Given the description of an element on the screen output the (x, y) to click on. 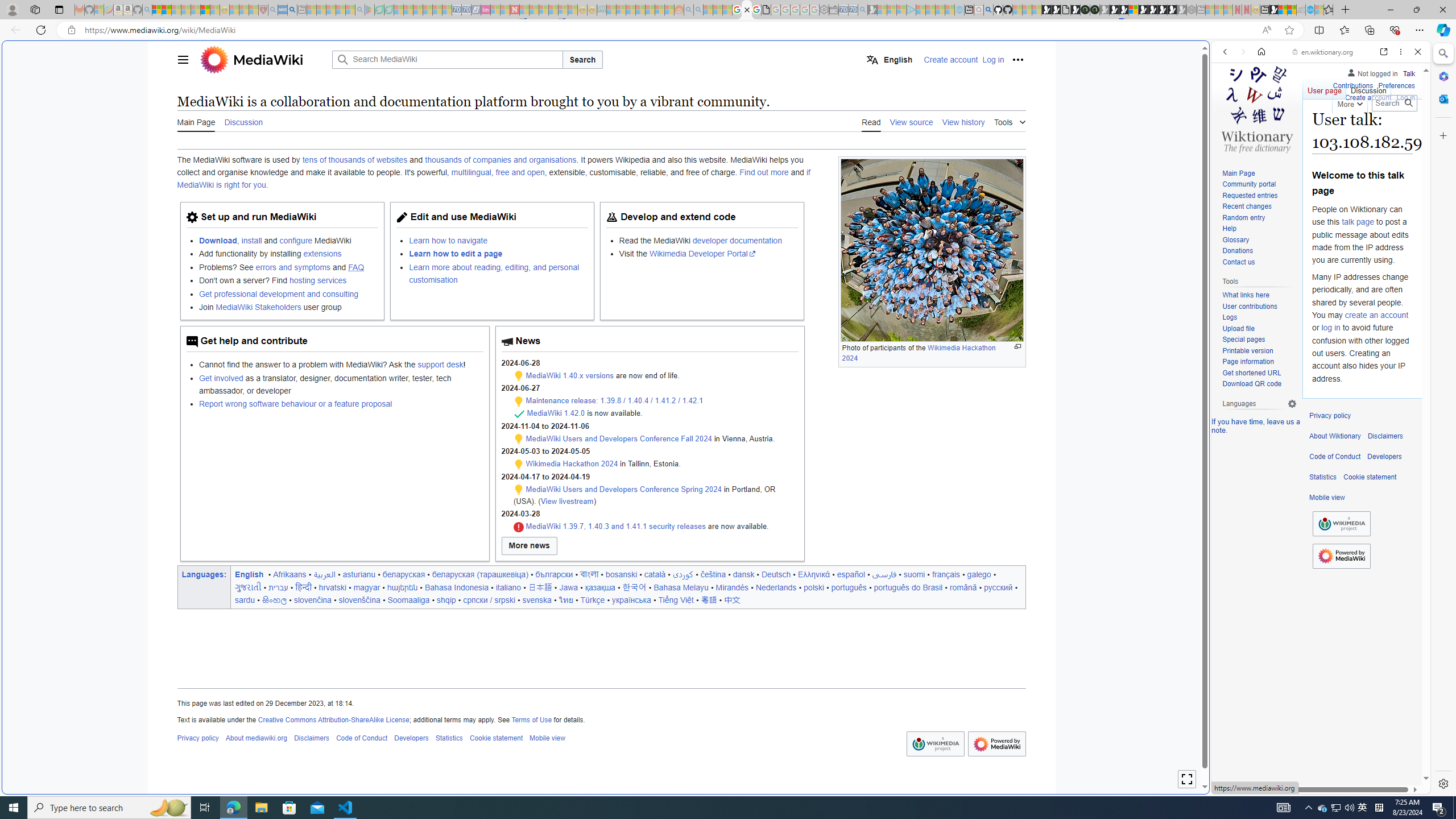
MediaWiki (268, 59)
Services - Maintenance | Sky Blue Bikes - Sky Blue Bikes (1309, 9)
Learn how to edit a page (498, 253)
Bluey: Let's Play! - Apps on Google Play - Sleeping (369, 9)
Read (870, 120)
Community portal (1248, 184)
